Given the description of an element on the screen output the (x, y) to click on. 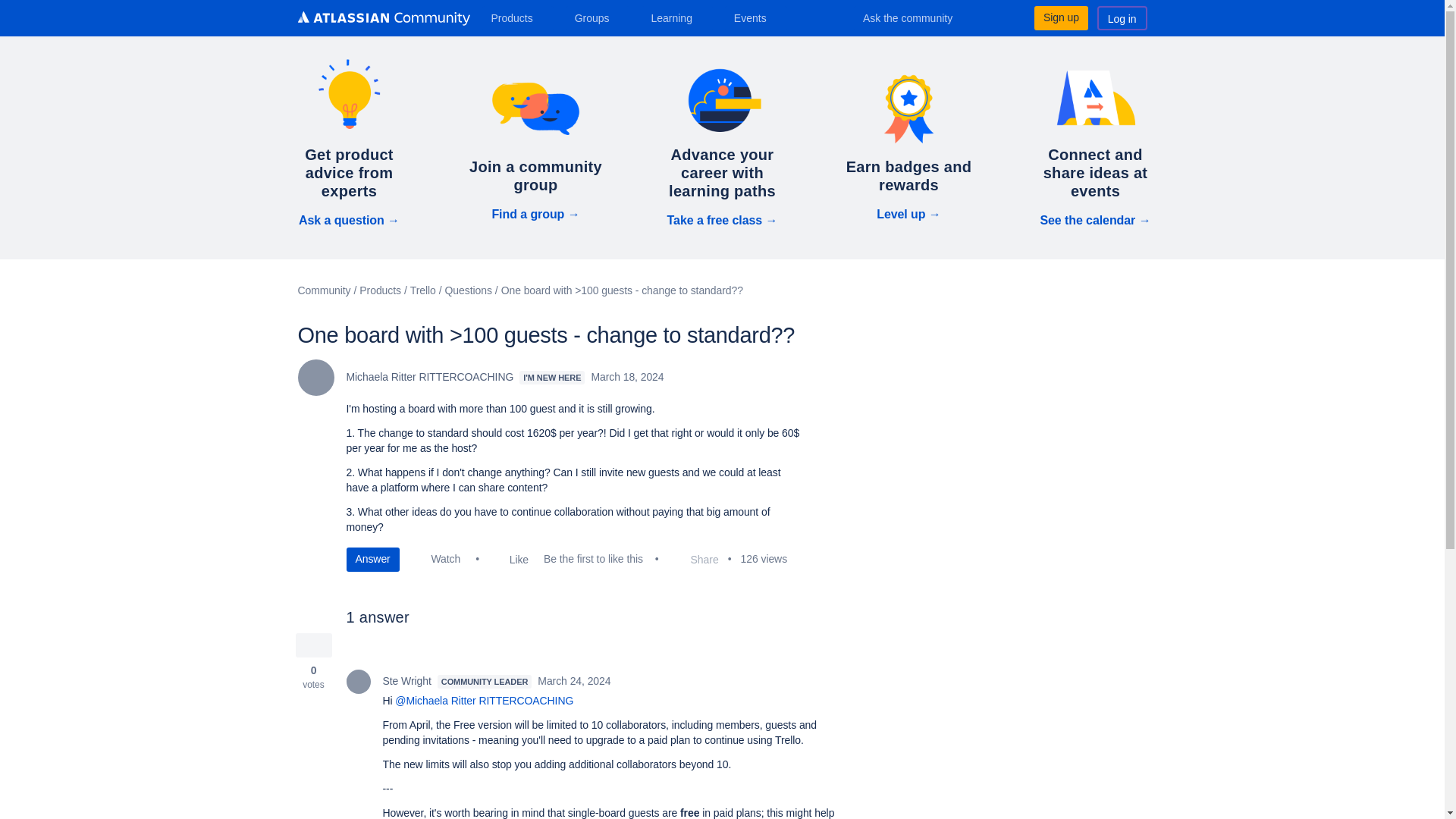
Products (517, 17)
Atlassian Community logo (382, 19)
Groups (598, 17)
Events (756, 17)
Sign up (1060, 17)
Log in (1122, 17)
Atlassian Community logo (382, 18)
Michaela Ritter RITTERCOACHING (315, 377)
Ask the community  (917, 17)
Ste Wright (357, 681)
Learning (676, 17)
